Given the description of an element on the screen output the (x, y) to click on. 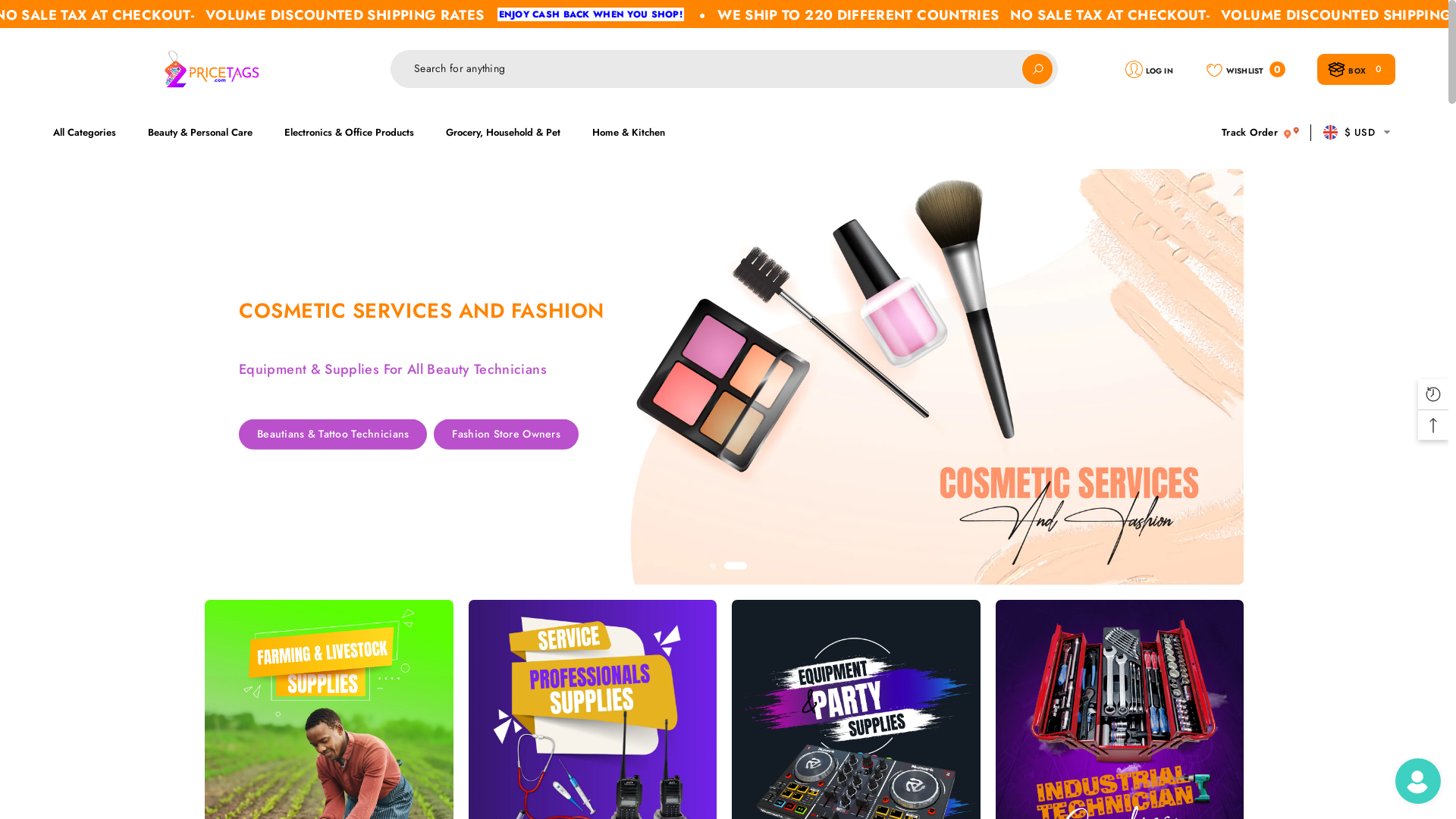
01 Element type: text (712, 565)
All Categories Element type: text (92, 132)
Beauty & Personal Care Element type: text (199, 132)
WISHLIST
My Wish List
0 Element type: text (1245, 68)
Grocery, Household & Pet Element type: text (502, 132)
Home & Kitchen Element type: text (628, 132)
Beautians & Tattoo Technicians Element type: text (332, 464)
Farm Food & Supplies Element type: text (457, 435)
Track Order Element type: text (1260, 132)
Electronics & Office Products Element type: text (349, 132)
LOG IN
Log in Element type: text (1148, 68)
Culinary Professional Element type: text (308, 435)
Fashion Store Owners Element type: text (505, 463)
02 Element type: text (735, 565)
